Given the description of an element on the screen output the (x, y) to click on. 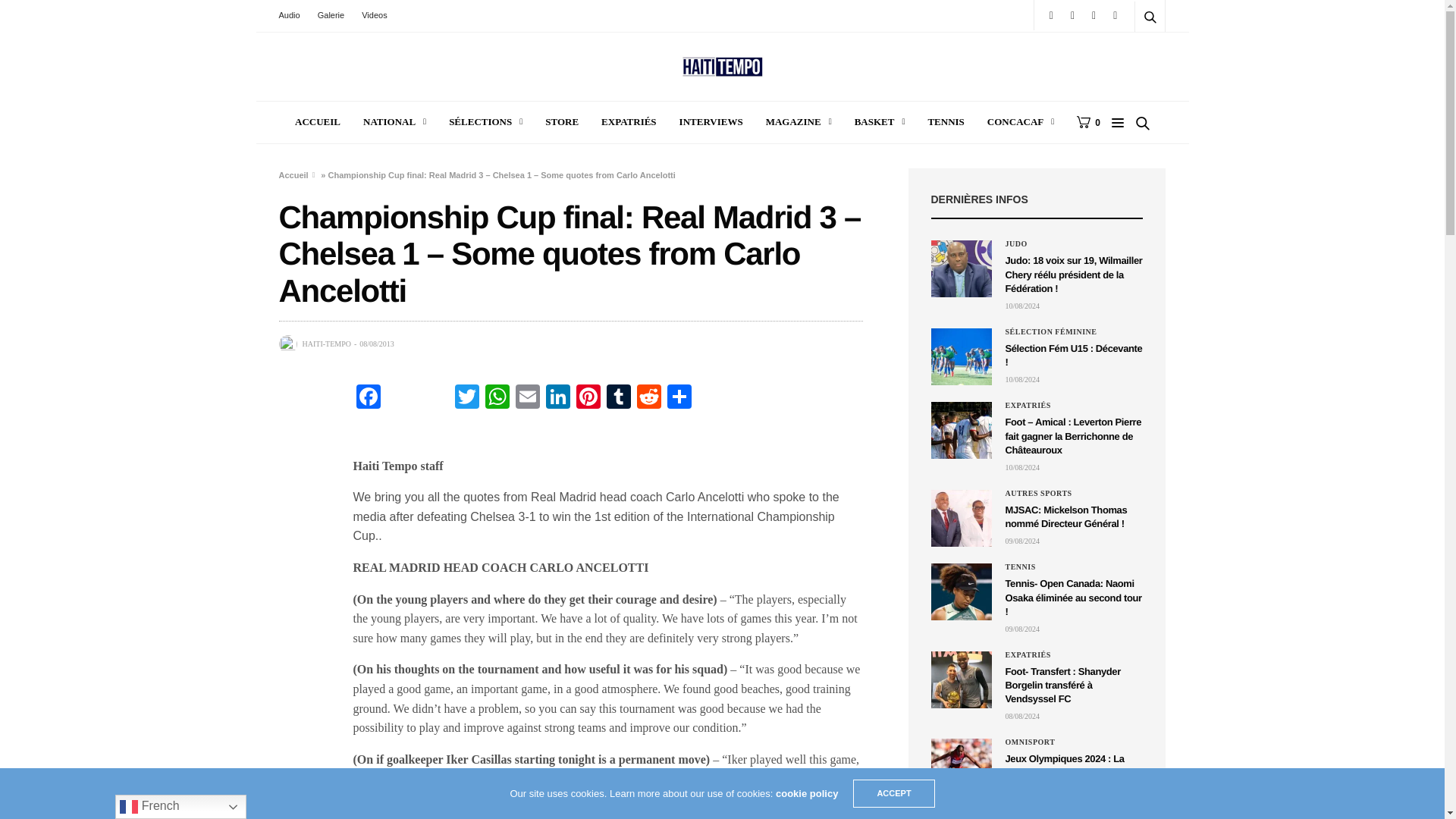
Twitter (466, 398)
Audio (293, 15)
Posts by Haiti-Tempo (325, 344)
Reddit (648, 398)
Galerie (331, 15)
NATIONAL (394, 122)
ACCUEIL (317, 122)
INTERVIEWS (710, 122)
Pinterest (588, 398)
Email (527, 398)
